Given the description of an element on the screen output the (x, y) to click on. 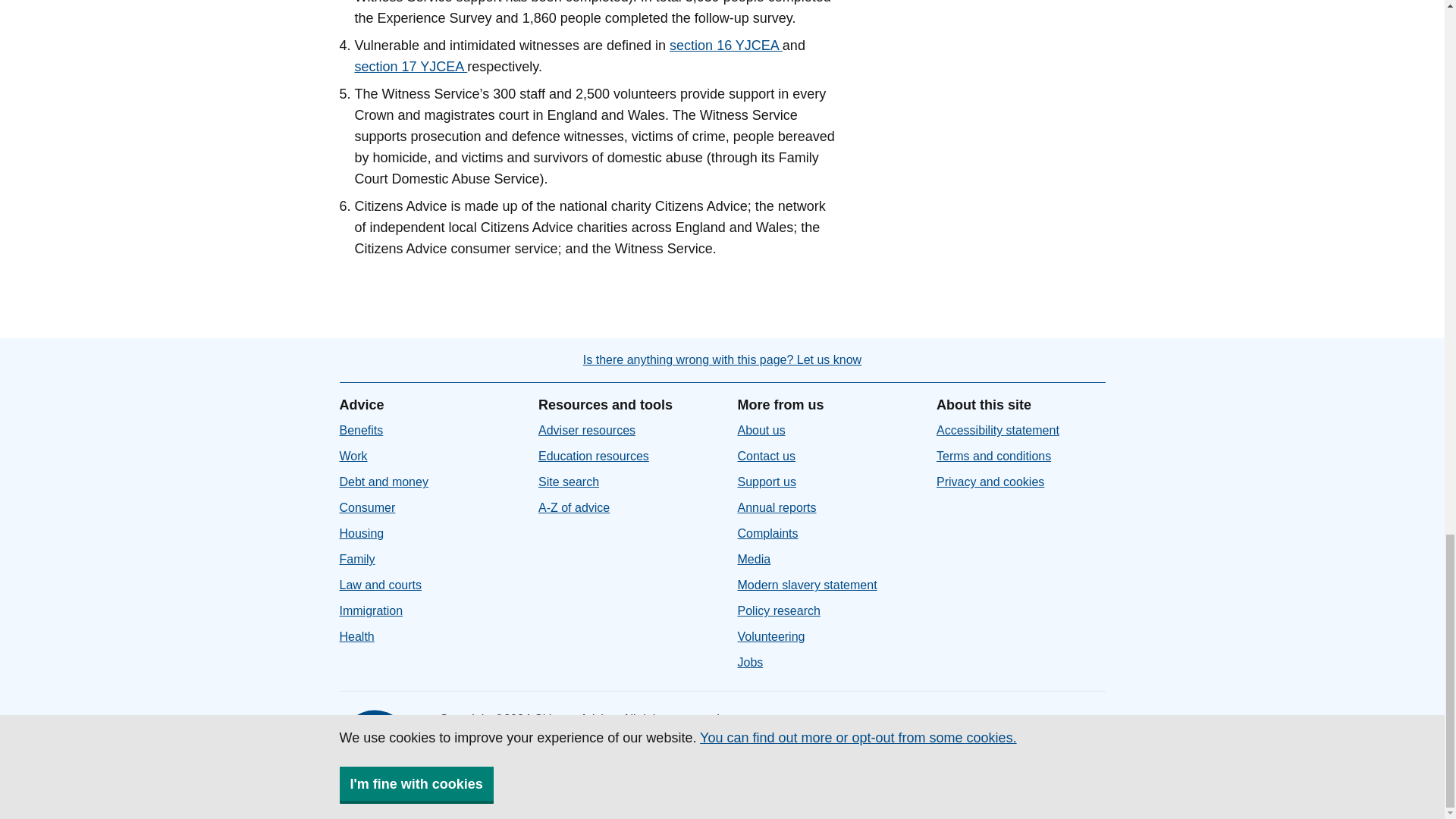
Family (357, 558)
Consumer (367, 507)
Health (356, 635)
Benefits (361, 430)
section 17 YJCEA (411, 66)
Law and courts (380, 584)
Citizens Advice homepage (376, 747)
Housing (361, 533)
section 16 YJCEA (726, 45)
Education resources (593, 455)
